Given the description of an element on the screen output the (x, y) to click on. 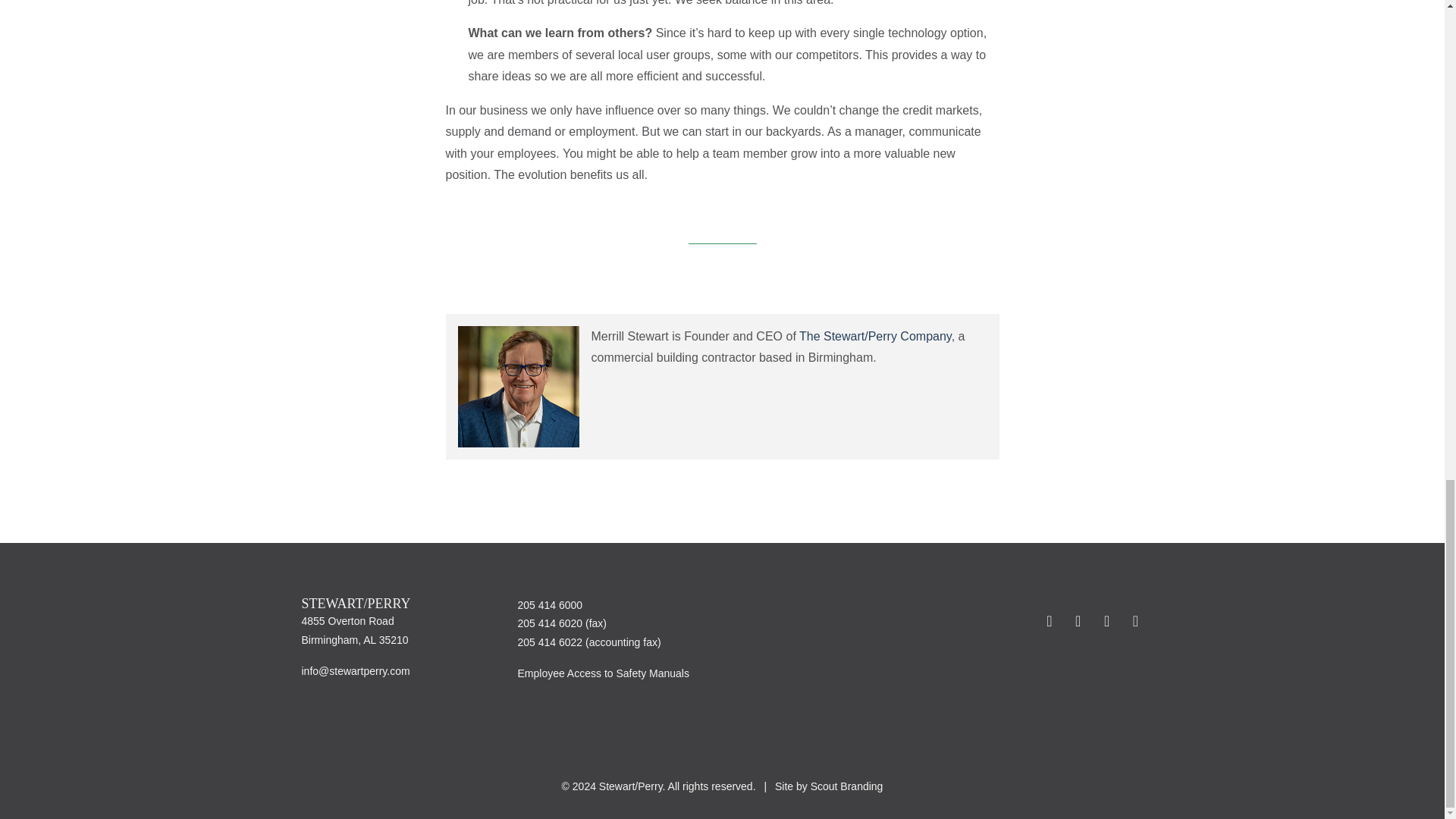
Site by Scout Branding (828, 786)
Facebook (1106, 620)
Employee Access to Safety Manuals (602, 673)
Flickr (1049, 620)
Twitter (1077, 620)
205 414 6000 (549, 604)
Award-Winning Branding Agency located in Birmingham, Alabama (828, 786)
Instagram (1132, 620)
